Given the description of an element on the screen output the (x, y) to click on. 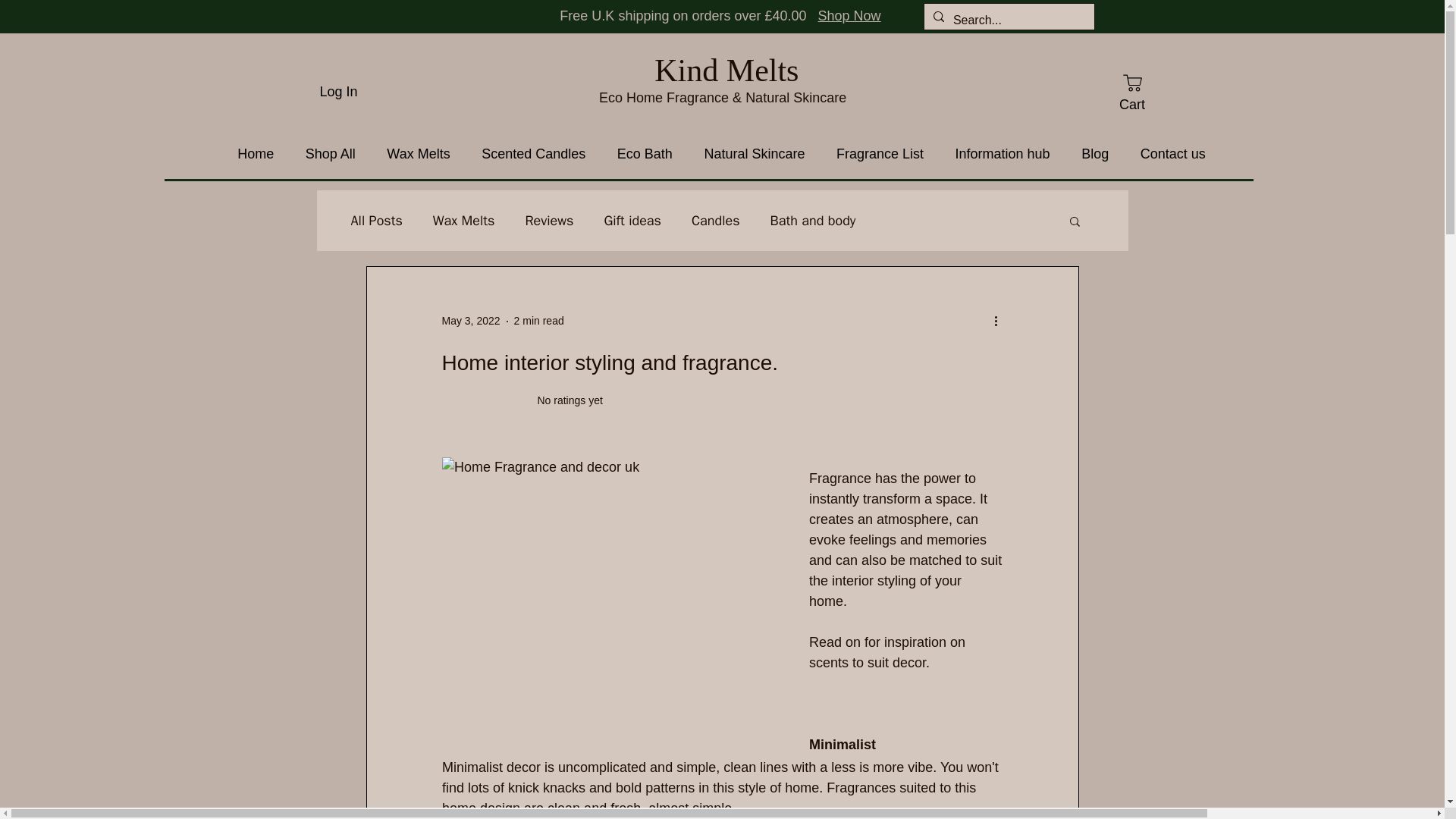
Home (256, 154)
Cart (1131, 91)
Shop Now (849, 15)
Contact us (1173, 154)
Wax Melts (463, 220)
Scented Candles (532, 154)
May 3, 2022 (470, 320)
Shop All (330, 154)
2 min read (538, 320)
Fragrance List (879, 154)
